Given the description of an element on the screen output the (x, y) to click on. 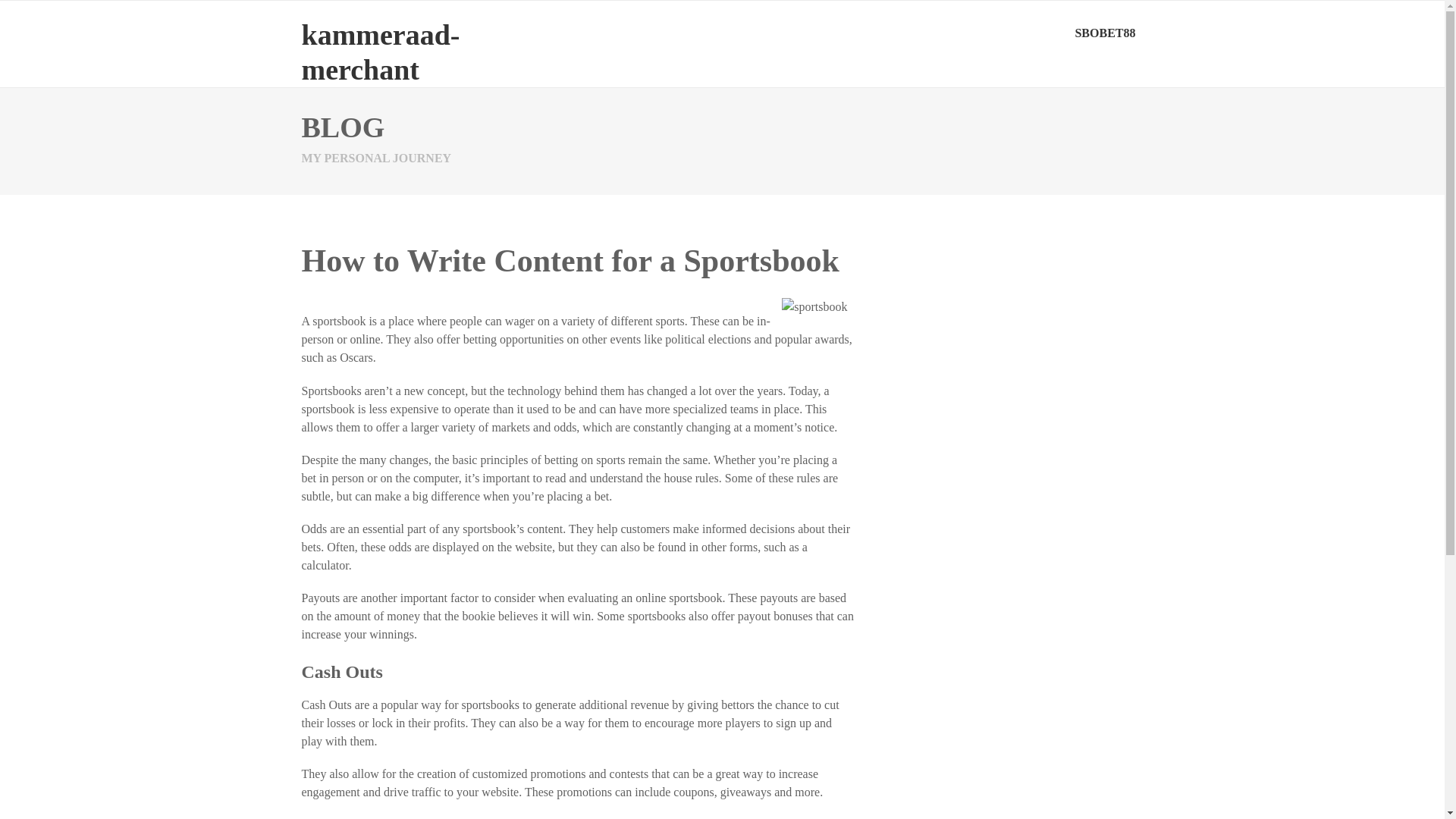
SBOBET88 (1104, 33)
kammeraad-merchant (380, 51)
